Given the description of an element on the screen output the (x, y) to click on. 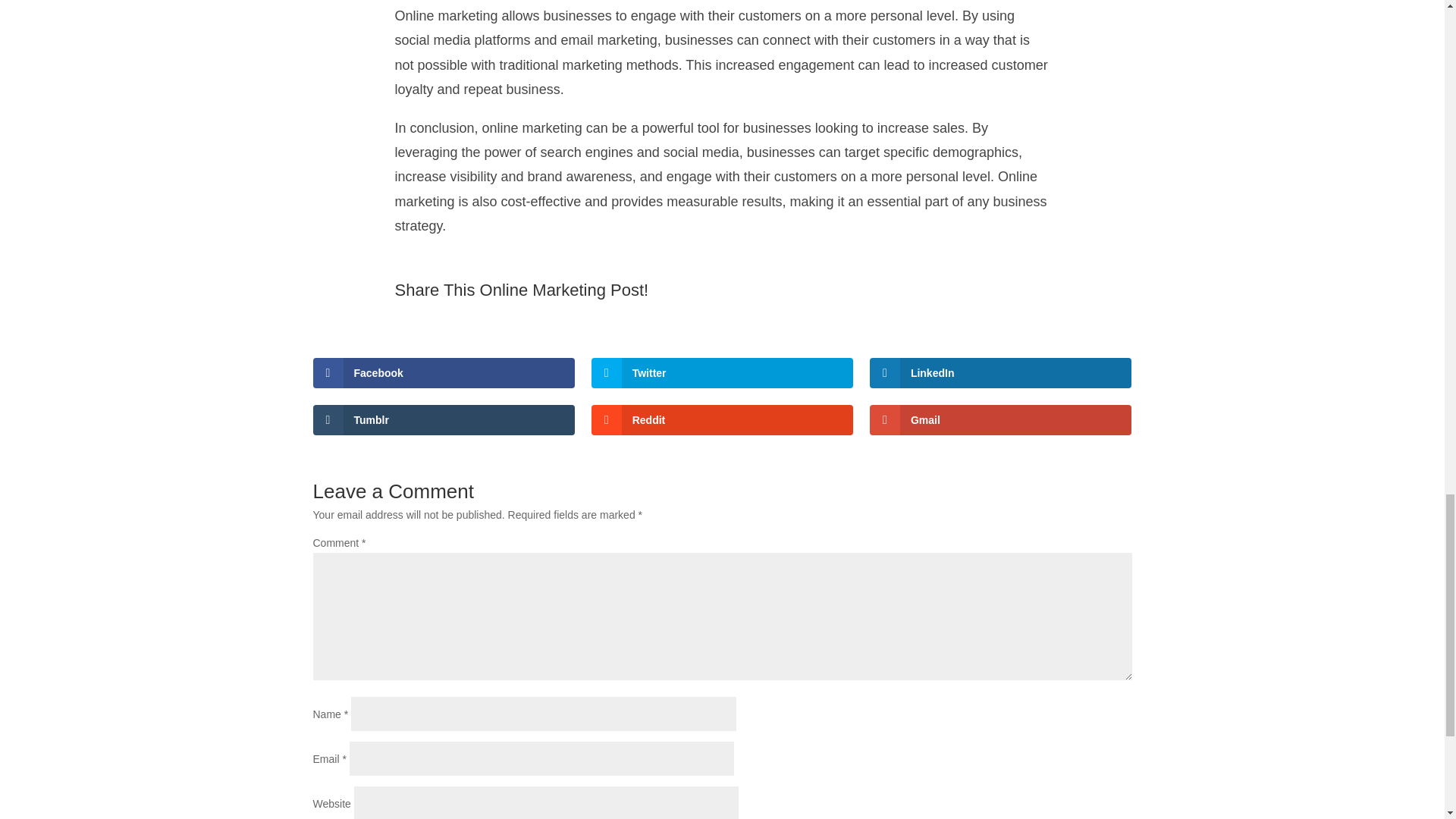
Tumblr (444, 419)
Twitter (722, 372)
LinkedIn (1000, 372)
Reddit (722, 419)
Gmail (1000, 419)
Facebook (444, 372)
